Given the description of an element on the screen output the (x, y) to click on. 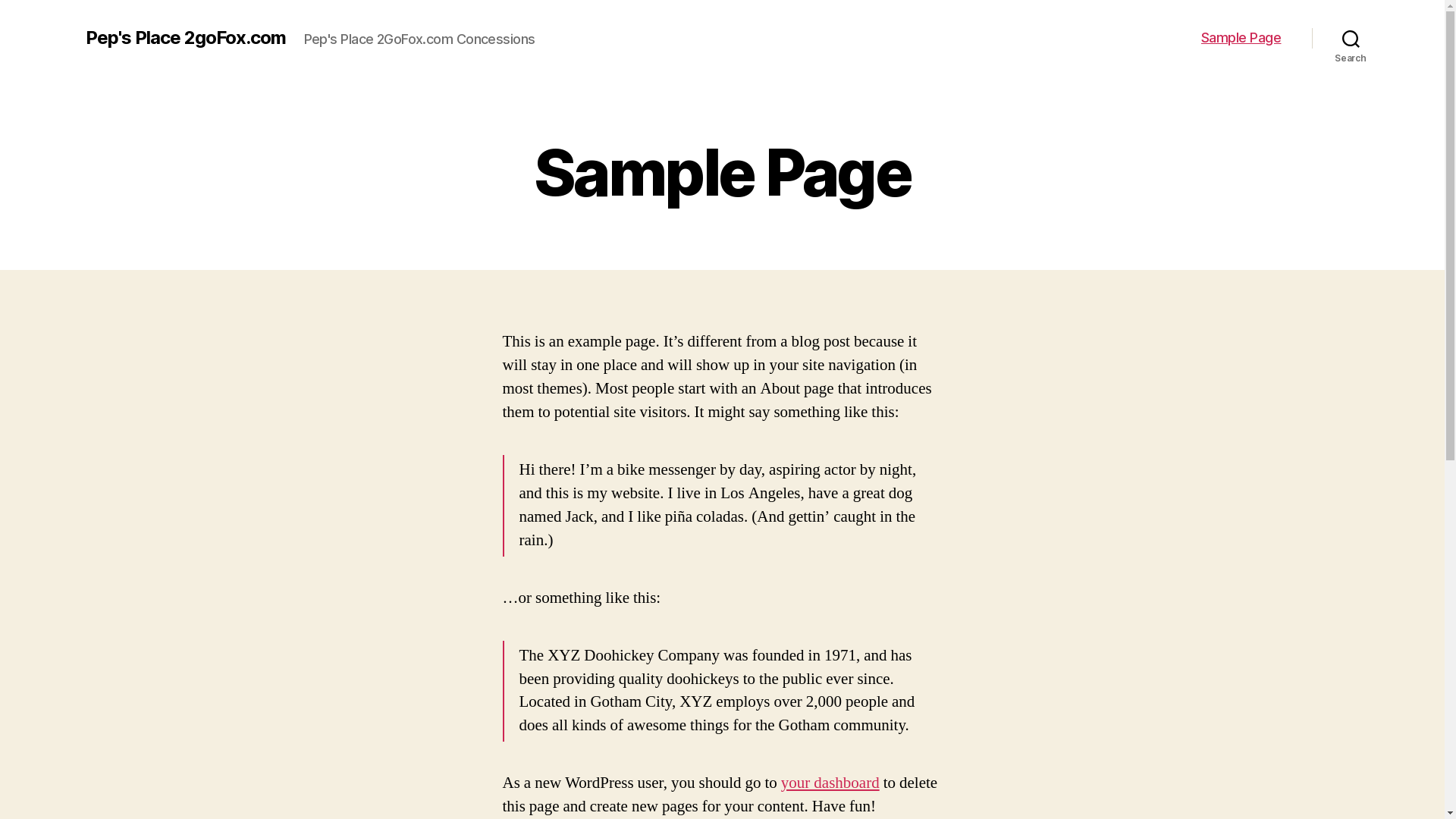
your dashboard Element type: text (830, 782)
Search Element type: text (1350, 37)
Pep's Place 2goFox.com Element type: text (184, 37)
Sample Page Element type: text (1241, 37)
